Given the description of an element on the screen output the (x, y) to click on. 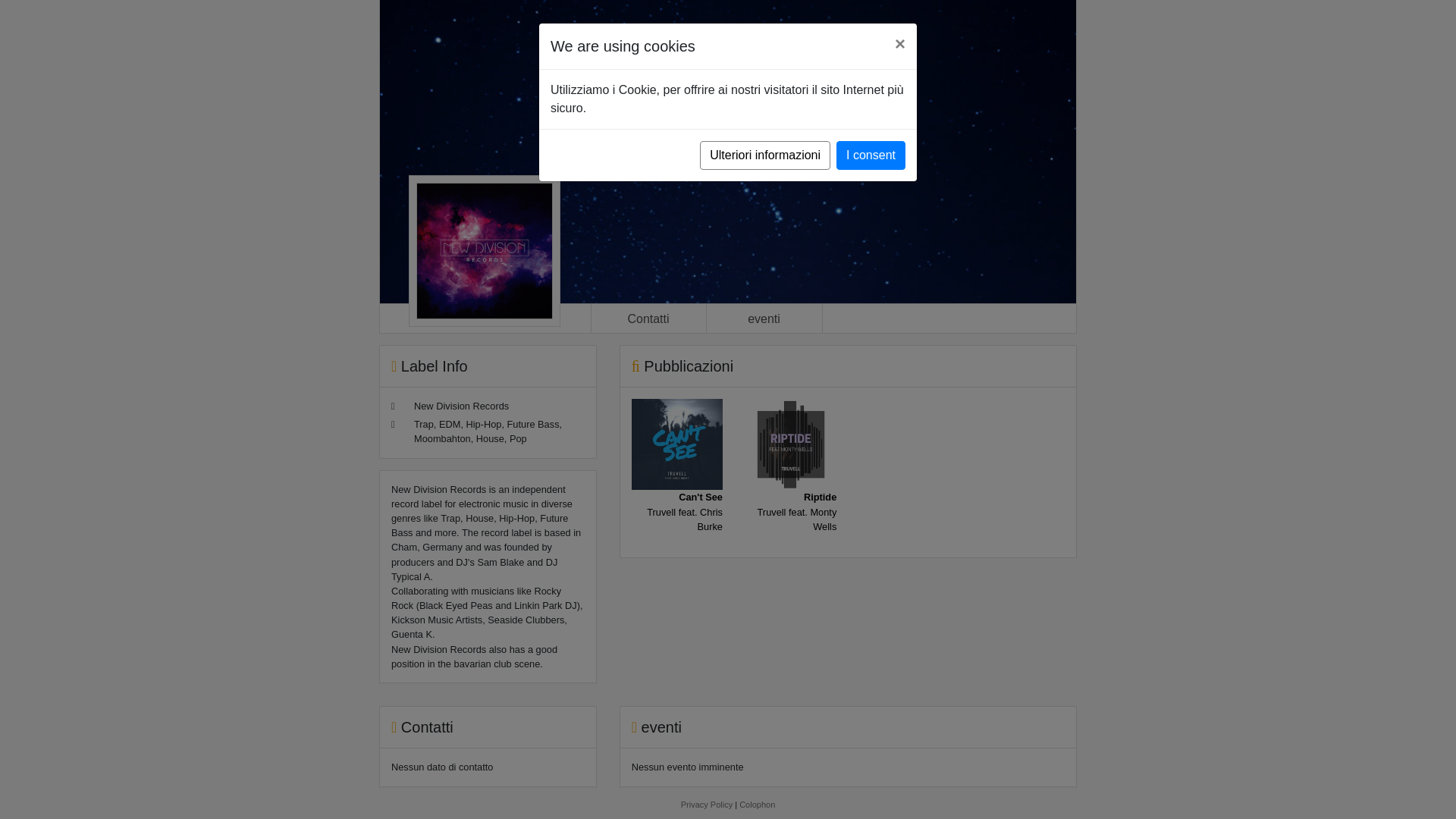
I consent (870, 154)
Ulteriori informazioni (764, 154)
Contatti (647, 318)
Privacy Policy (706, 804)
eventi (764, 318)
Colophon (756, 804)
